Given the description of an element on the screen output the (x, y) to click on. 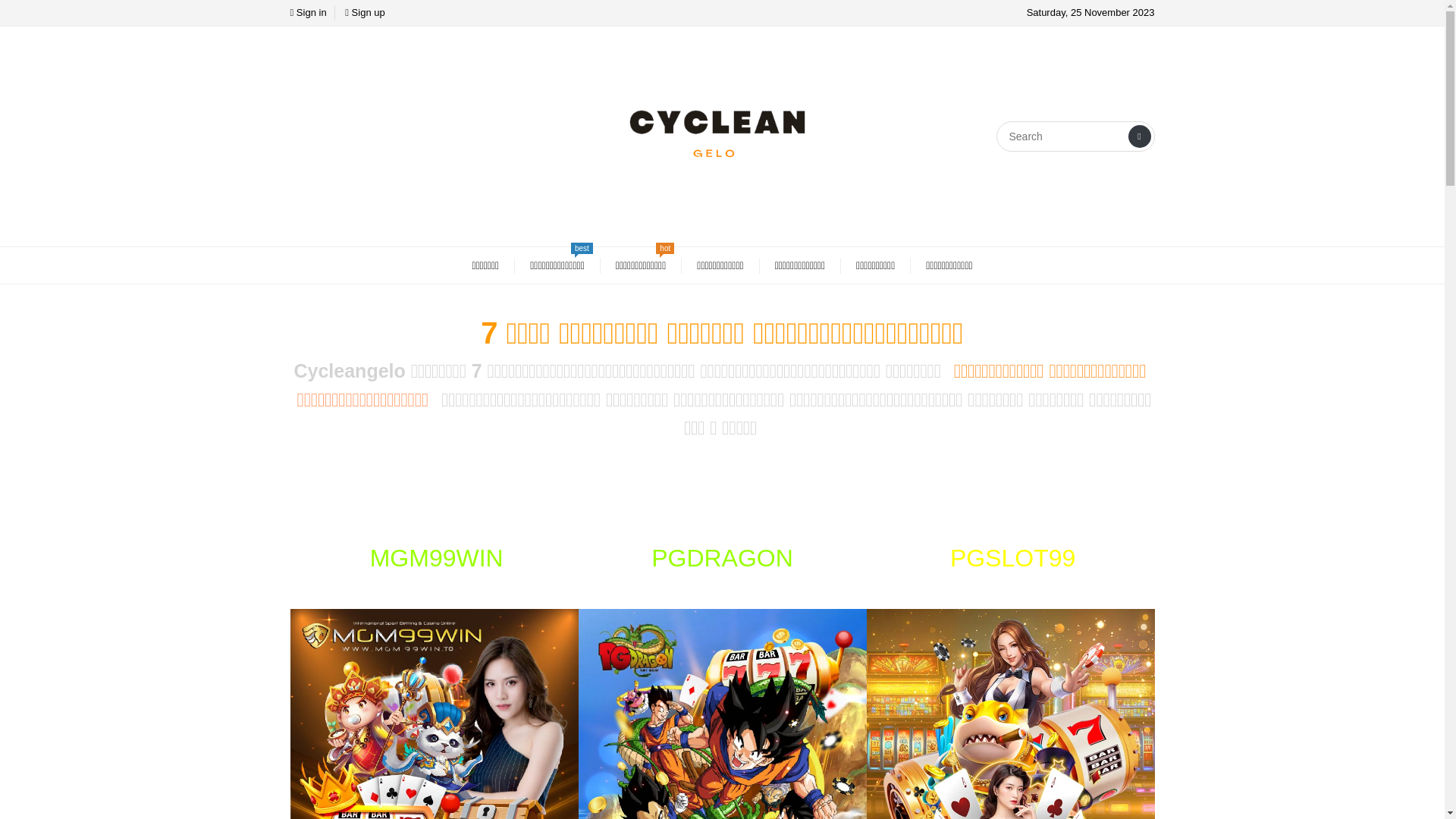
Sign in Element type: text (307, 12)
Sign up Element type: text (364, 12)
